Given the description of an element on the screen output the (x, y) to click on. 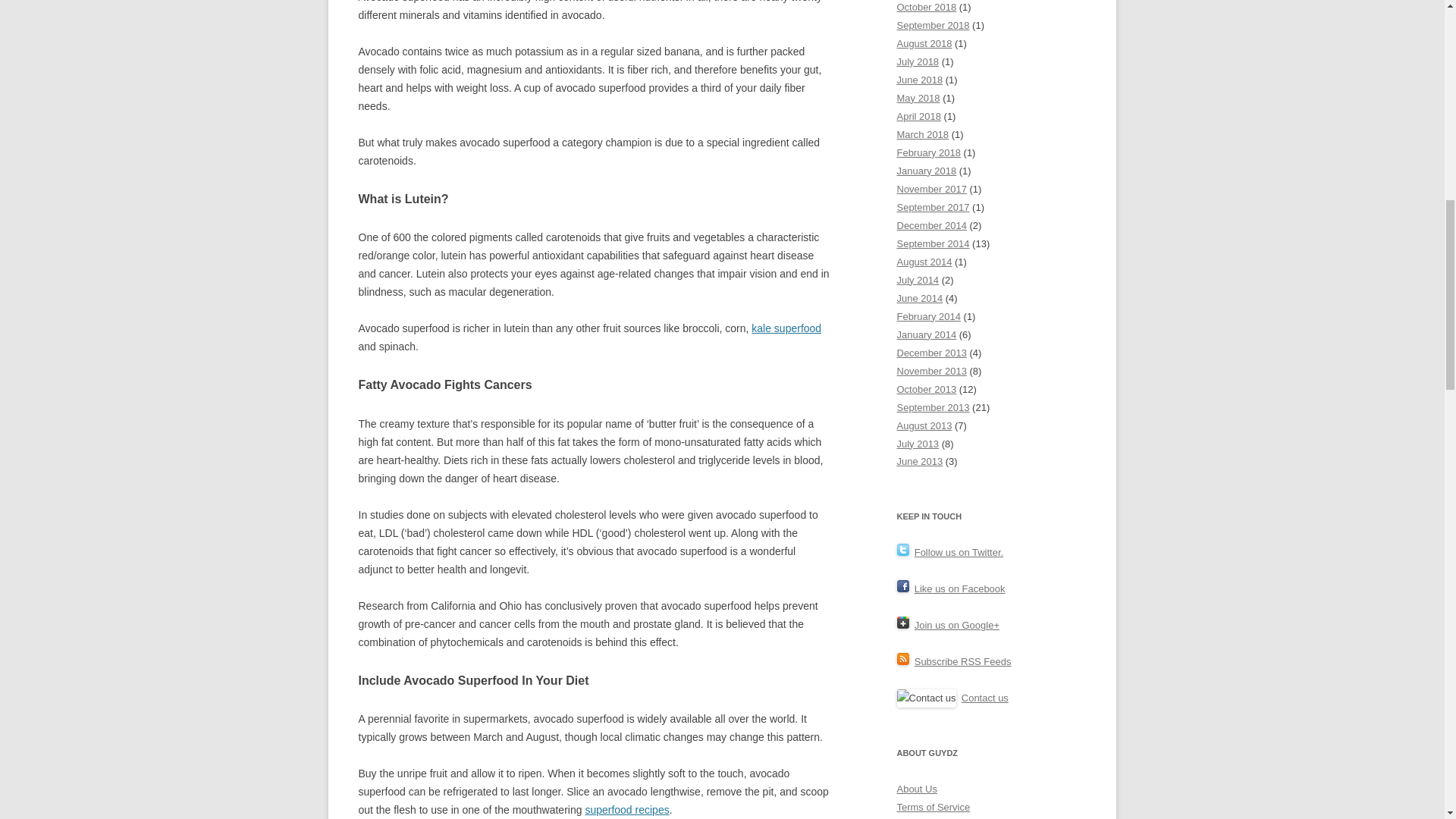
Follow us on twitter (958, 552)
Like us on Facebook (960, 588)
kale superfood (786, 328)
September 2018 (932, 25)
Contact us (984, 697)
October 2018 (926, 7)
Subscribe RSS Feeds (962, 661)
superfood recipes (626, 809)
